Given the description of an element on the screen output the (x, y) to click on. 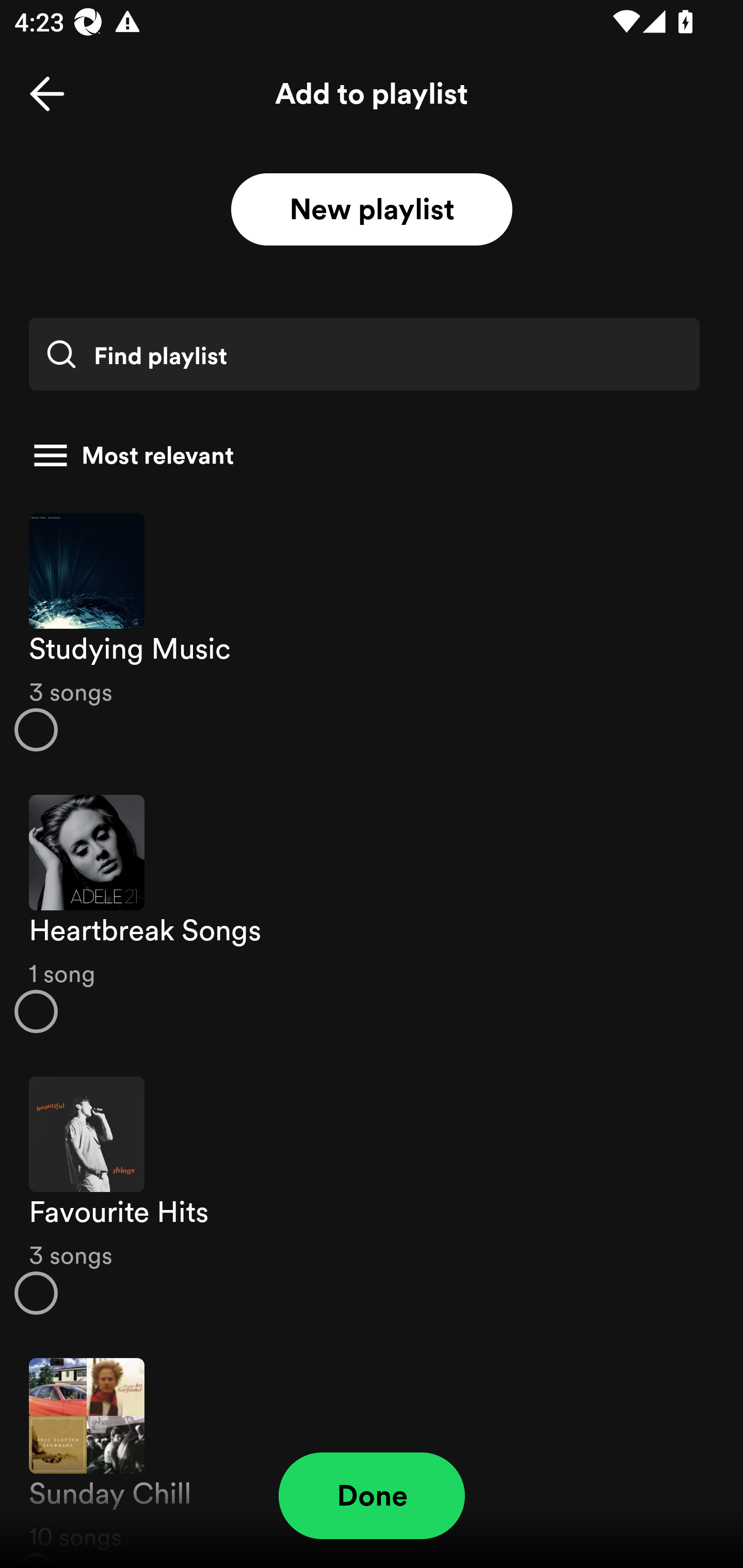
Back (46, 93)
New playlist (371, 210)
Find playlist (363, 354)
Most relevant (363, 455)
Studying Music 3 songs (371, 631)
Heartbreak Songs 1 song (371, 914)
Favourite Hits 3 songs (371, 1195)
Sunday Chill 10 songs (371, 1451)
Done (371, 1495)
